Given the description of an element on the screen output the (x, y) to click on. 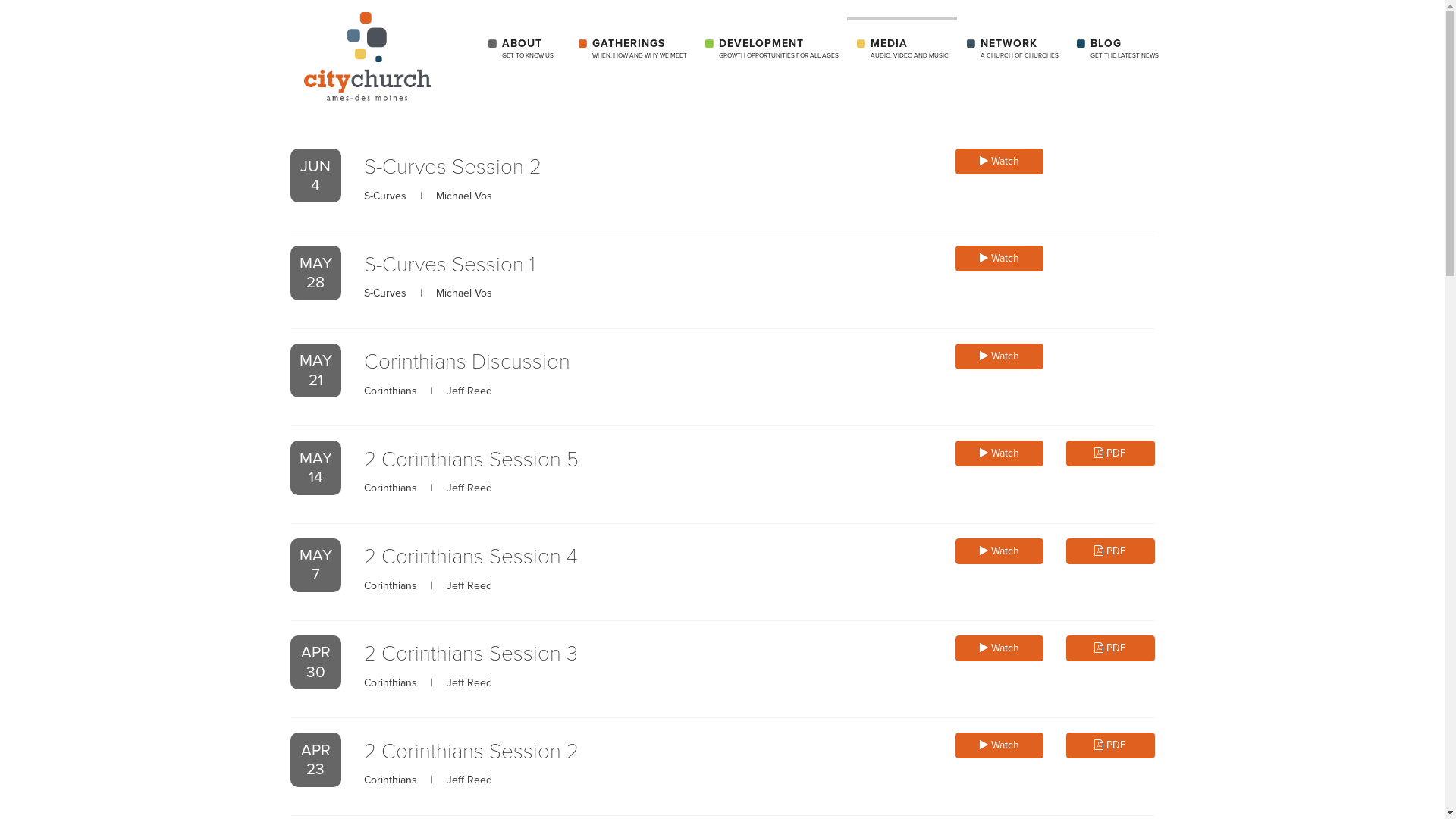
Watch Element type: text (999, 745)
Watch Element type: text (999, 258)
DEVELOPMENT
GROWTH OPPORTUNITIES FOR ALL AGES Element type: text (770, 48)
PDF Element type: text (1110, 551)
Watch Element type: text (999, 648)
Watch Element type: text (999, 161)
Watch Element type: text (999, 551)
Watch Element type: text (999, 356)
PDF Element type: text (1110, 745)
Watch Element type: text (999, 453)
NETWORK
A CHURCH OF CHURCHES Element type: text (1011, 48)
PDF Element type: text (1110, 648)
ABOUT
GET TO KNOW US Element type: text (522, 48)
BLOG
GET THE LATEST NEWS Element type: text (1116, 48)
GATHERINGS
WHEN, HOW AND WHY WE MEET Element type: text (631, 48)
MEDIA
AUDIO, VIDEO AND MUSIC Element type: text (901, 48)
PDF Element type: text (1110, 453)
